Given the description of an element on the screen output the (x, y) to click on. 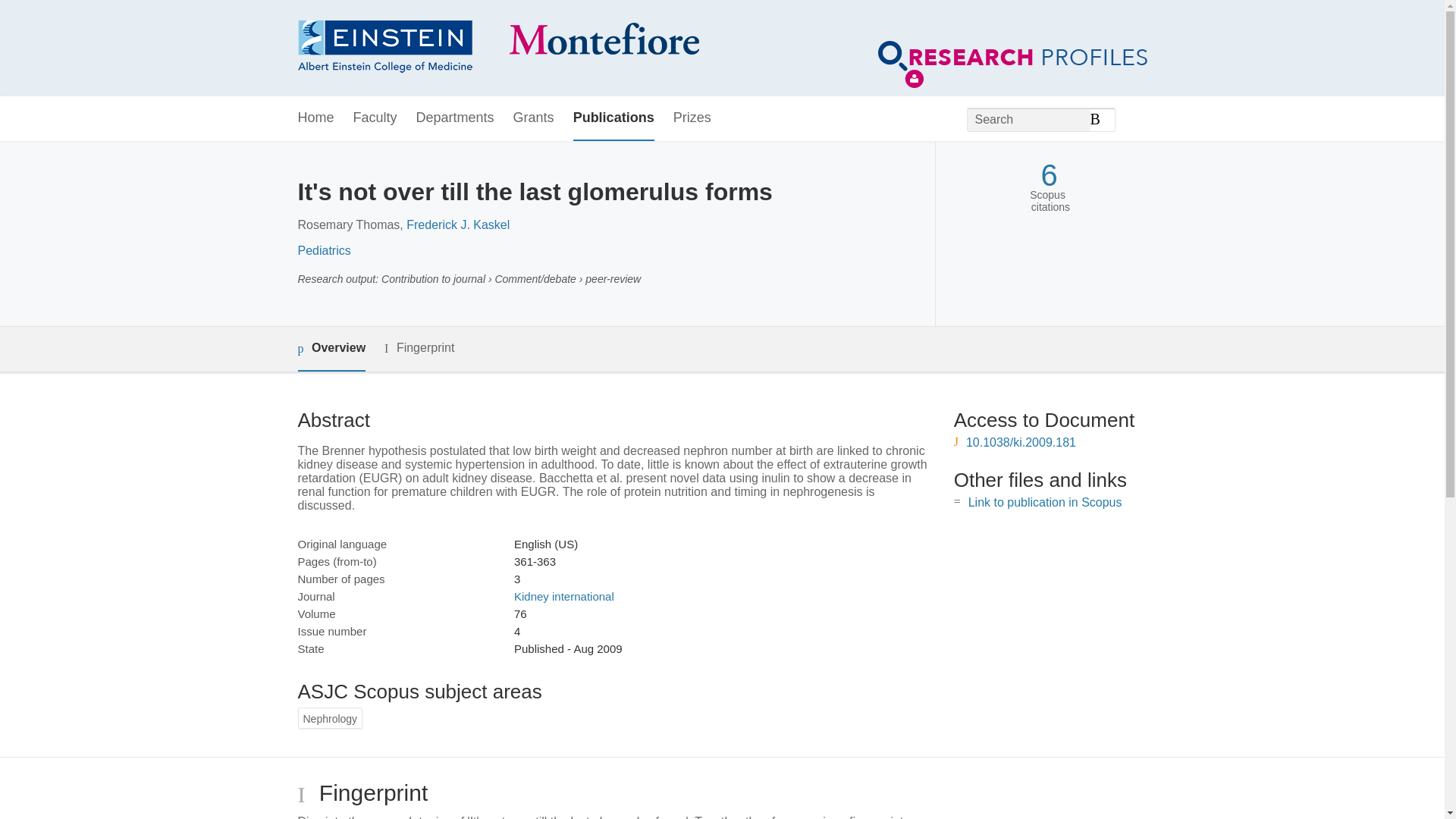
Faculty (375, 118)
Albert Einstein College of Medicine Home (497, 48)
Kidney international (563, 595)
Frederick J. Kaskel (457, 224)
Departments (455, 118)
Overview (331, 348)
Link to publication in Scopus (1045, 502)
Pediatrics (323, 250)
Fingerprint (419, 348)
Publications (613, 118)
Grants (533, 118)
